Given the description of an element on the screen output the (x, y) to click on. 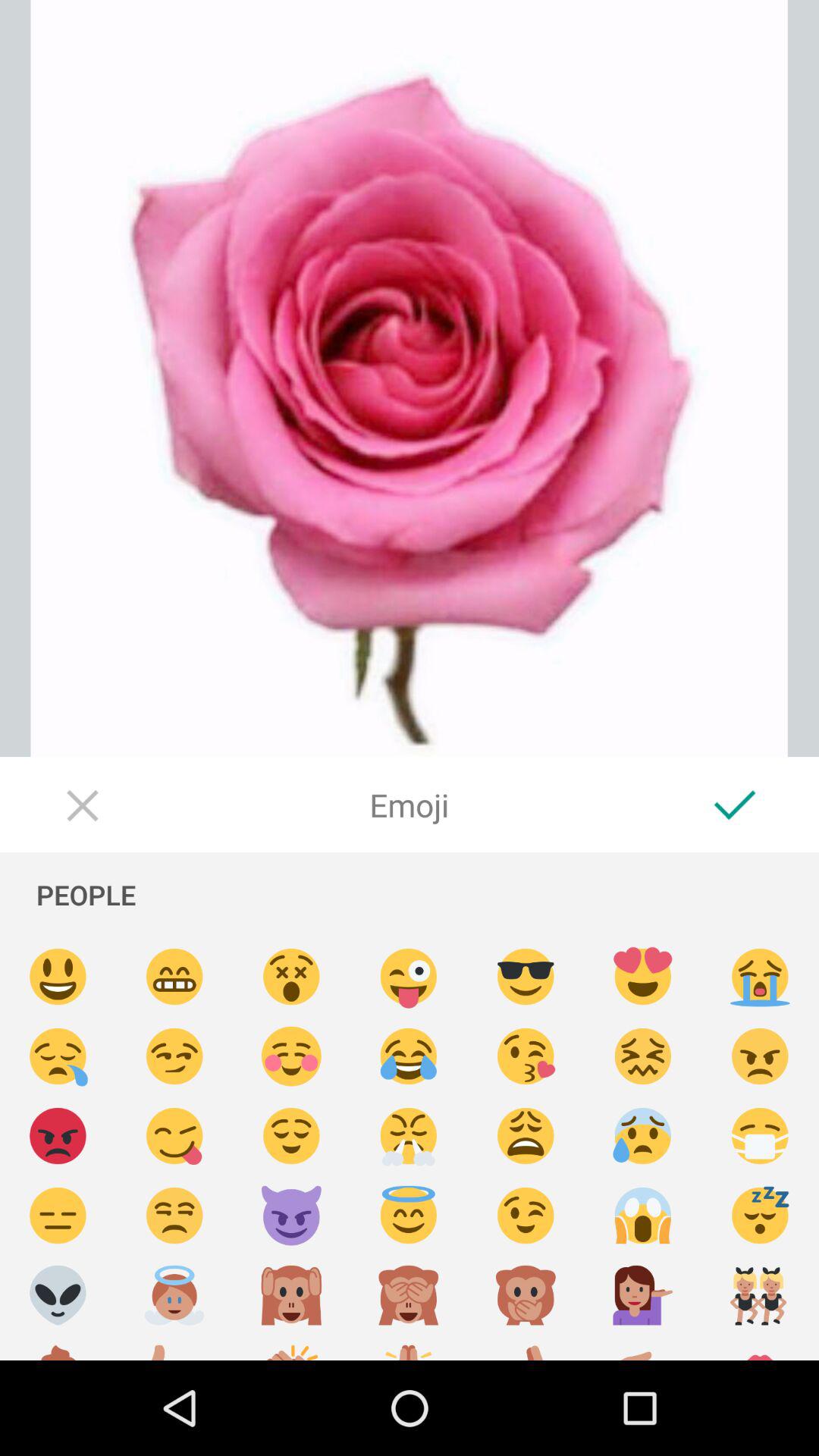
select angelic emoji (174, 1295)
